Given the description of an element on the screen output the (x, y) to click on. 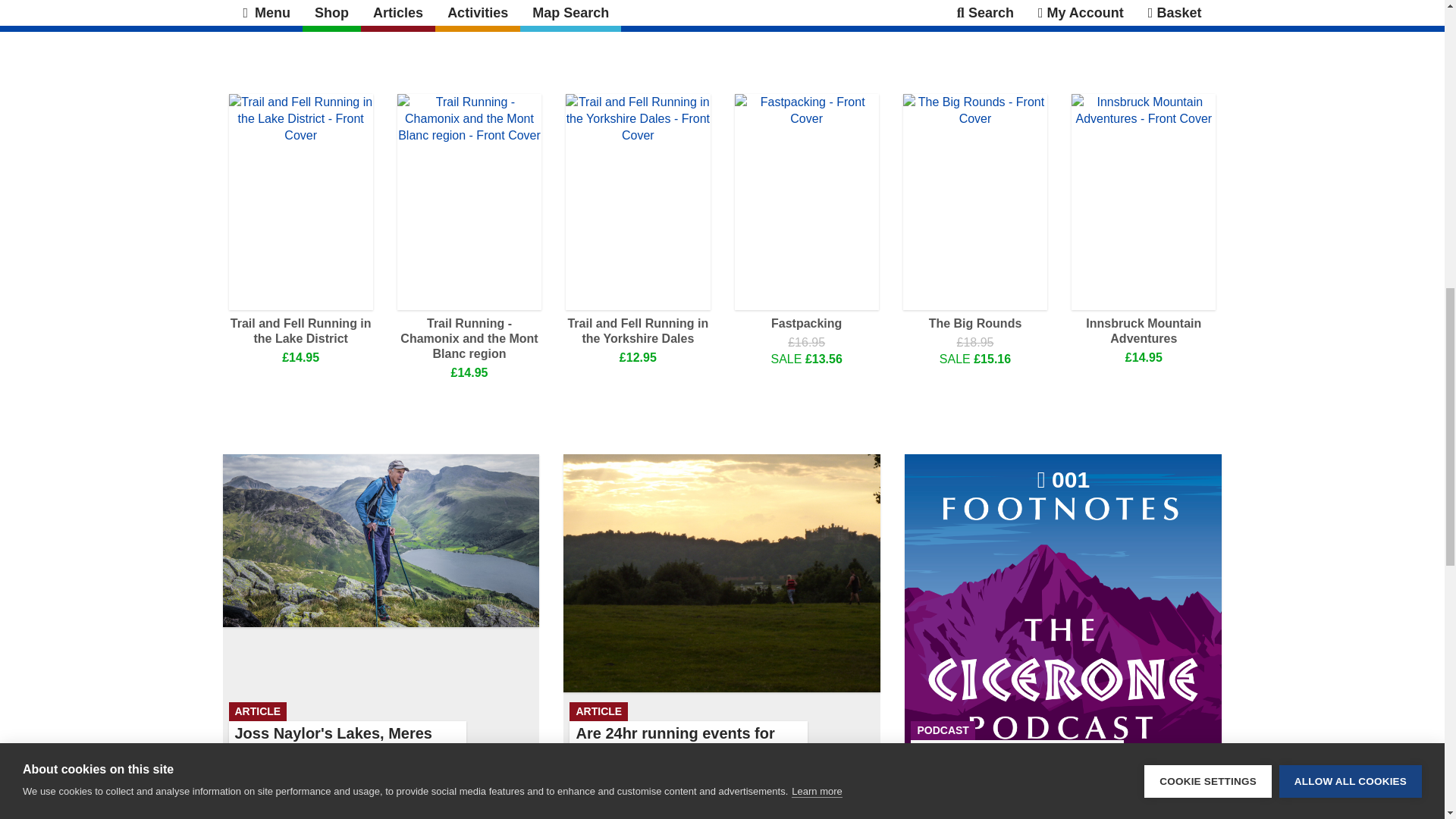
Fifty years of adventure (875, 10)
Trail and mountain running (367, 10)
Behind the scenes at cicerone (1062, 612)
Trail and Fell Running in the Yorkshire Dales (694, 10)
Innsbruck Mountain Adventures (638, 331)
Trail and Fell Running in the Lake District (1143, 331)
The Big Rounds (300, 331)
